Given the description of an element on the screen output the (x, y) to click on. 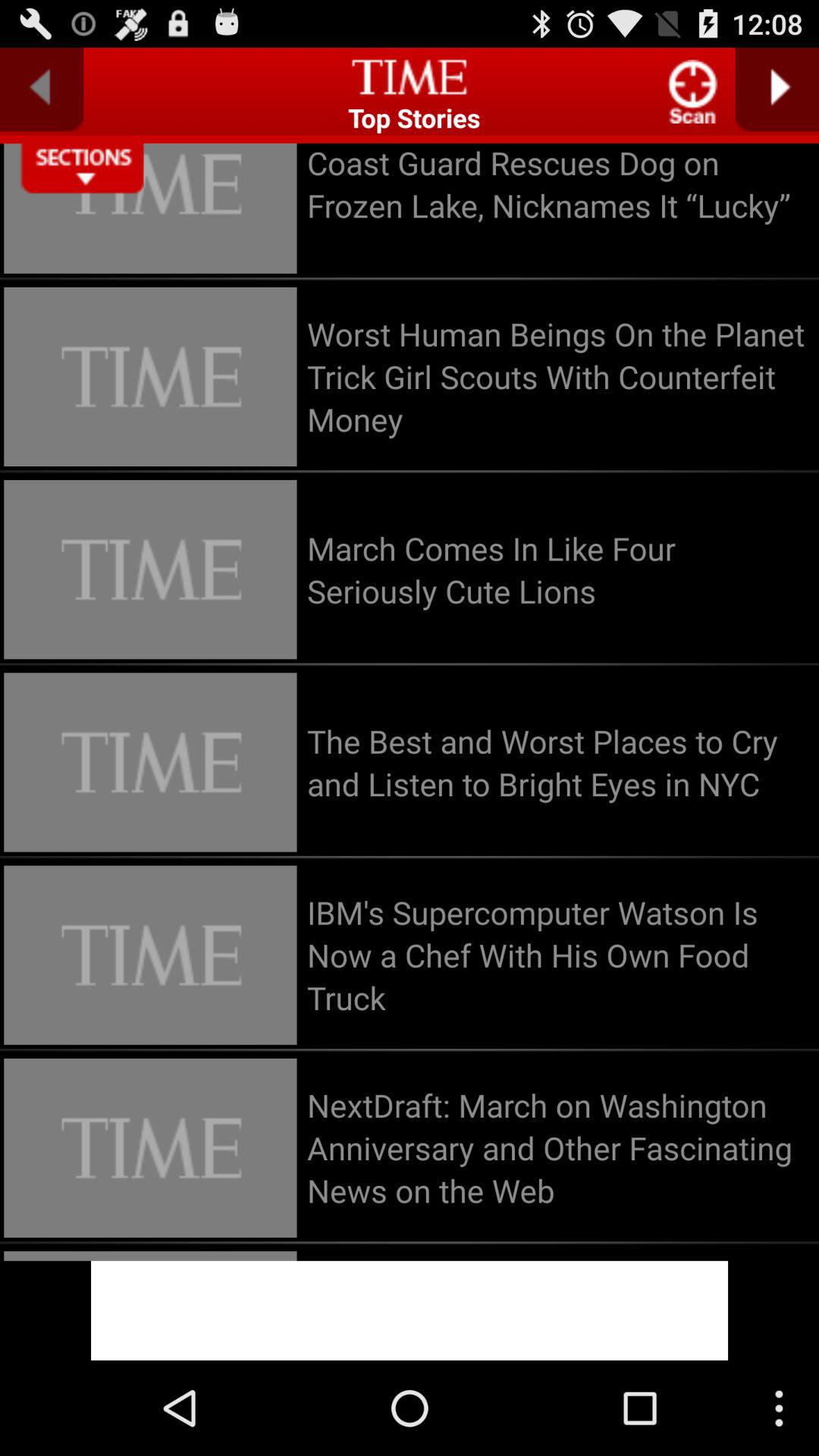
go to next screen (777, 89)
